Given the description of an element on the screen output the (x, y) to click on. 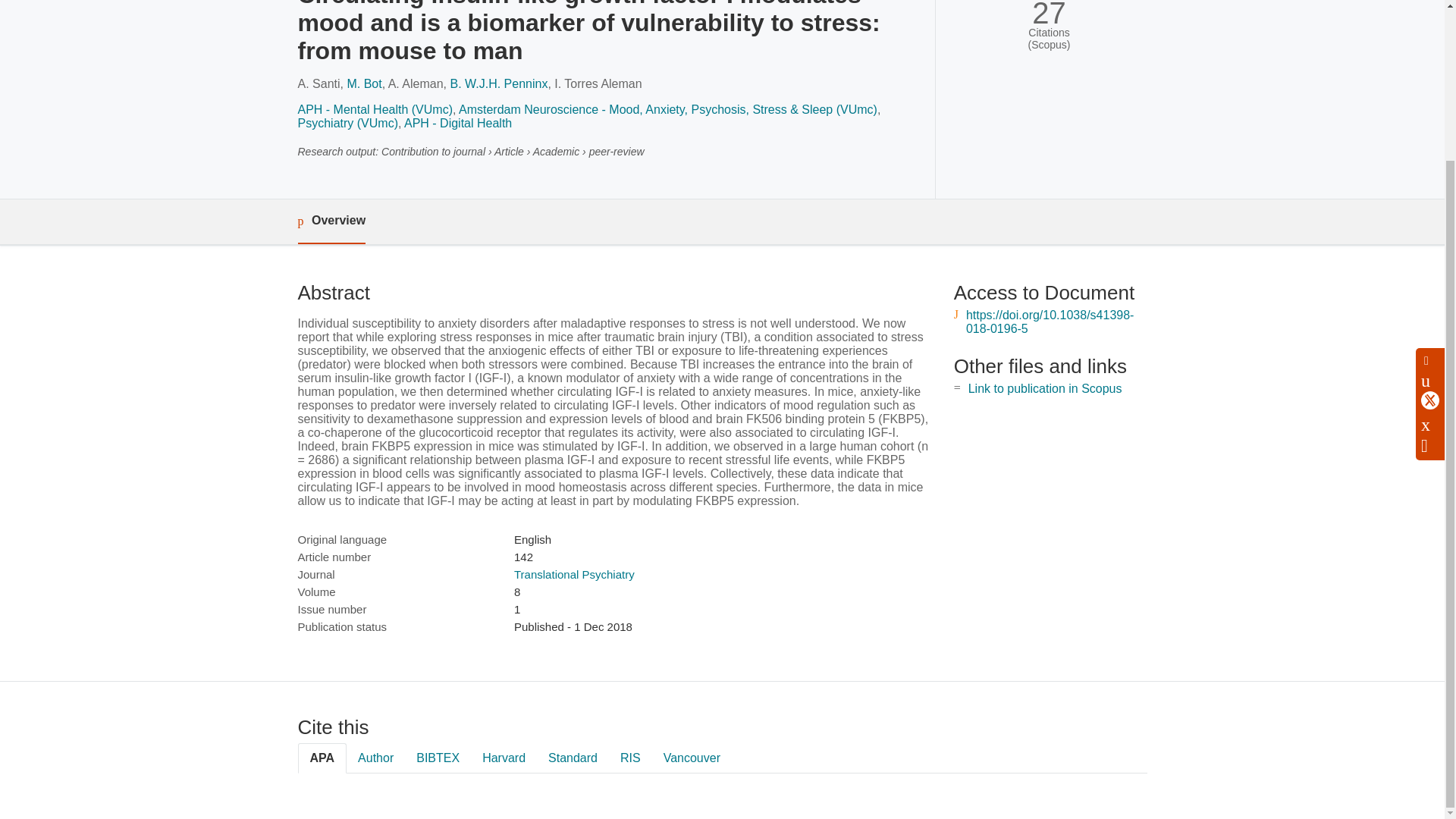
M. Bot (363, 83)
Link to publication in Scopus (1045, 388)
Translational Psychiatry (573, 574)
B. W.J.H. Penninx (498, 83)
APH - Digital Health (458, 123)
Overview (331, 221)
